Given the description of an element on the screen output the (x, y) to click on. 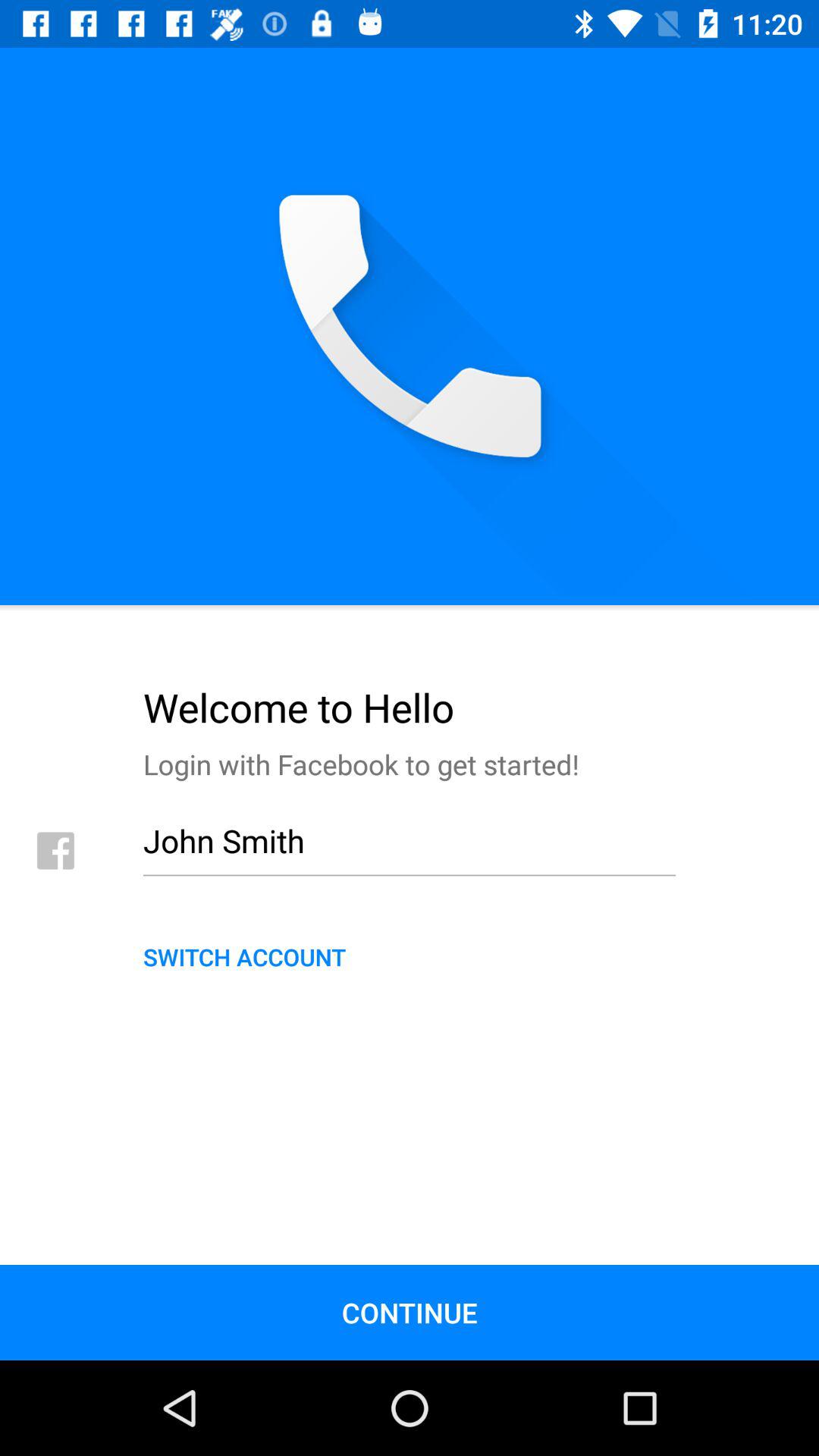
flip to switch account item (409, 956)
